Given the description of an element on the screen output the (x, y) to click on. 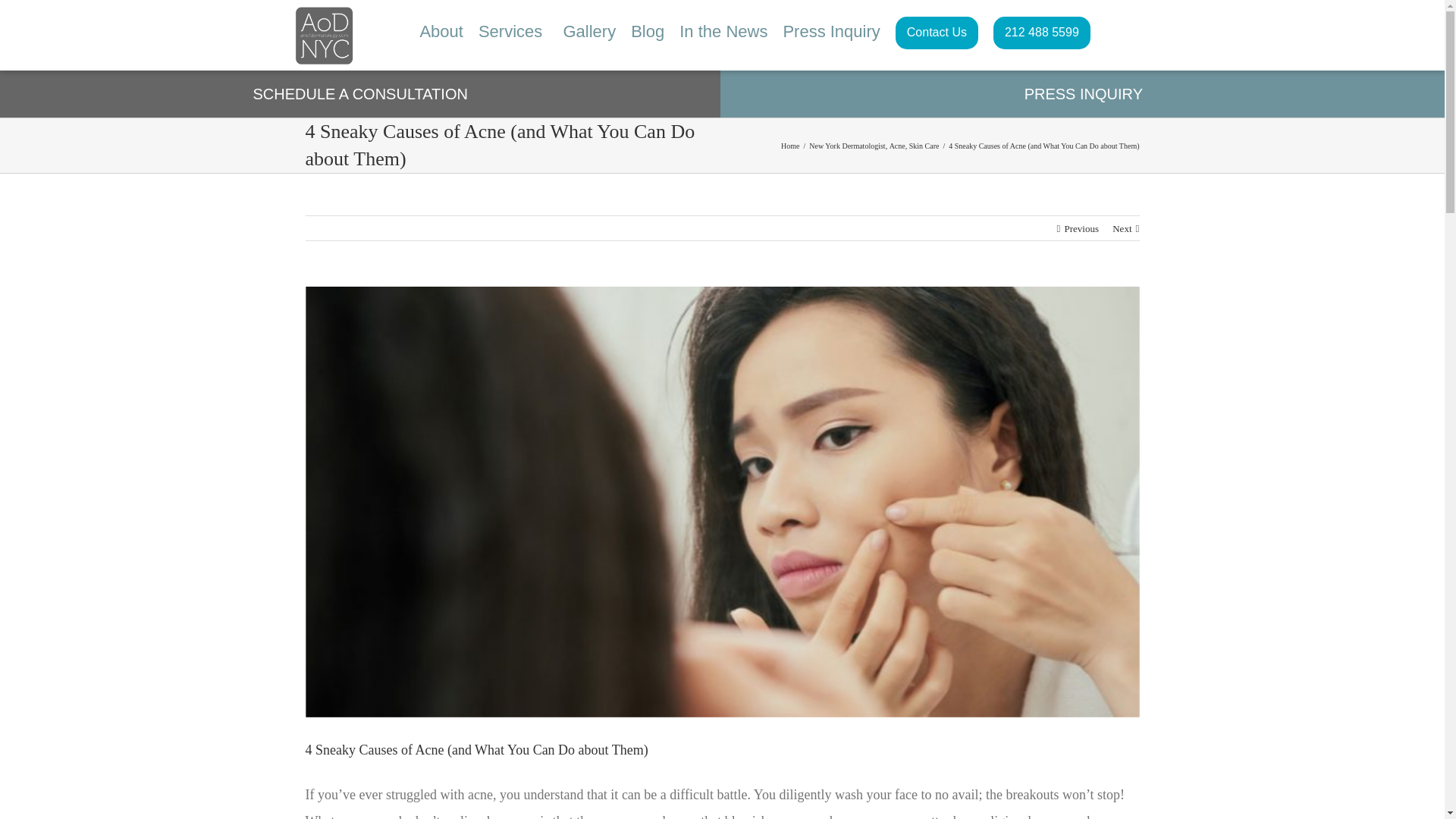
Services (510, 31)
Blog (646, 31)
About (441, 31)
Gallery (588, 31)
